Given the description of an element on the screen output the (x, y) to click on. 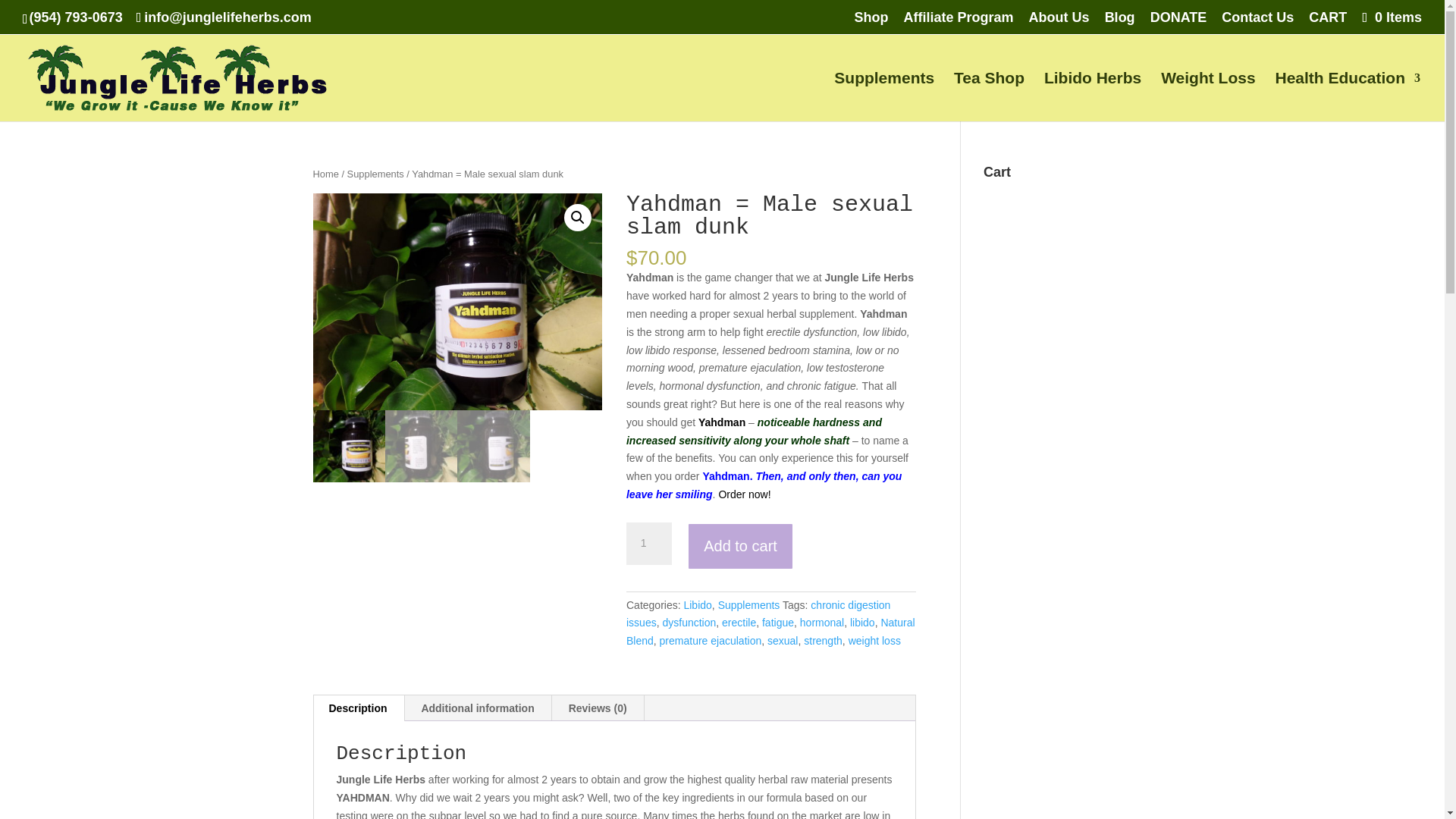
0 Items (1390, 16)
Weight Loss (1207, 96)
About Us (1059, 22)
Affiliate Program (958, 22)
CART (1327, 22)
Blog (1120, 22)
1 (648, 543)
Supplements (884, 96)
Contact Us (1257, 22)
Health Education (1348, 96)
Libido Herbs (1092, 96)
SAMSUNG CAMERA PICTURES (457, 301)
Tea Shop (989, 96)
DONATE (1178, 22)
Shop (871, 22)
